Given the description of an element on the screen output the (x, y) to click on. 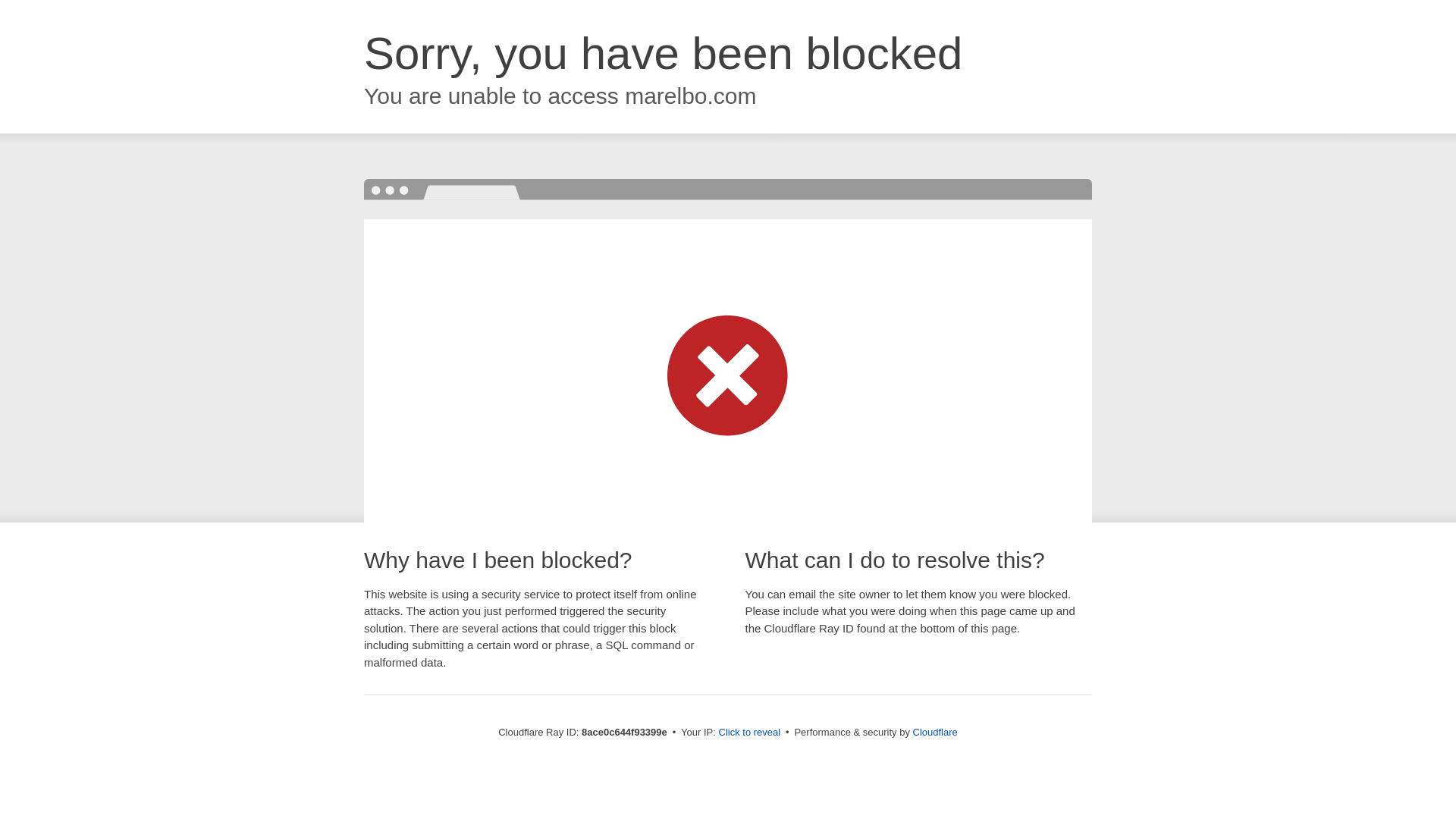
Cloudflare (935, 731)
Click to reveal (749, 732)
